Given the description of an element on the screen output the (x, y) to click on. 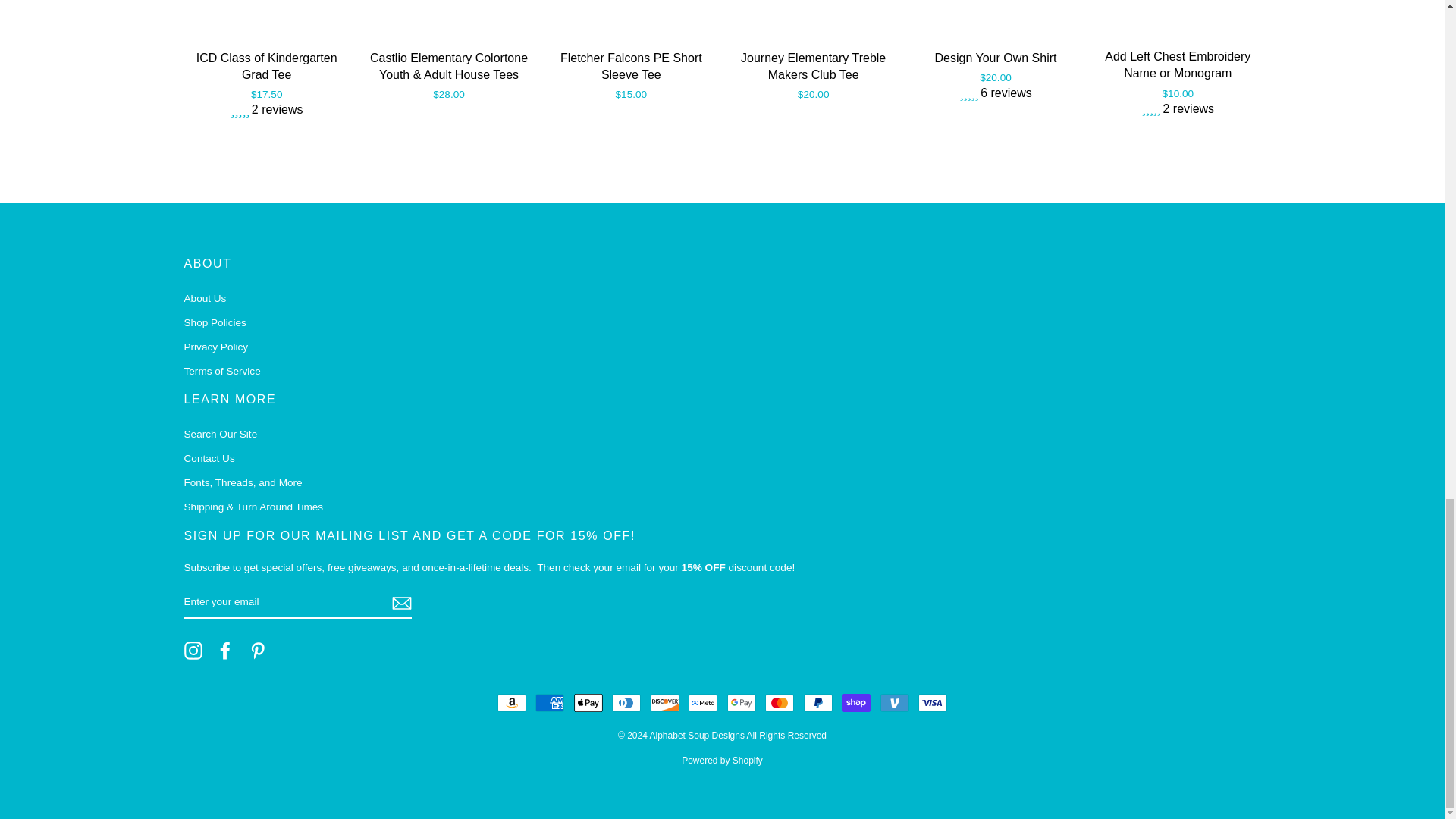
Diners Club (625, 702)
Discover (664, 702)
Amazon (511, 702)
Alphabet Soup Designs on Instagram (192, 650)
Alphabet Soup Designs on Pinterest (257, 650)
Mastercard (779, 702)
Alphabet Soup Designs on Facebook (224, 650)
Apple Pay (587, 702)
Google Pay (740, 702)
Meta Pay (702, 702)
American Express (549, 702)
